Given the description of an element on the screen output the (x, y) to click on. 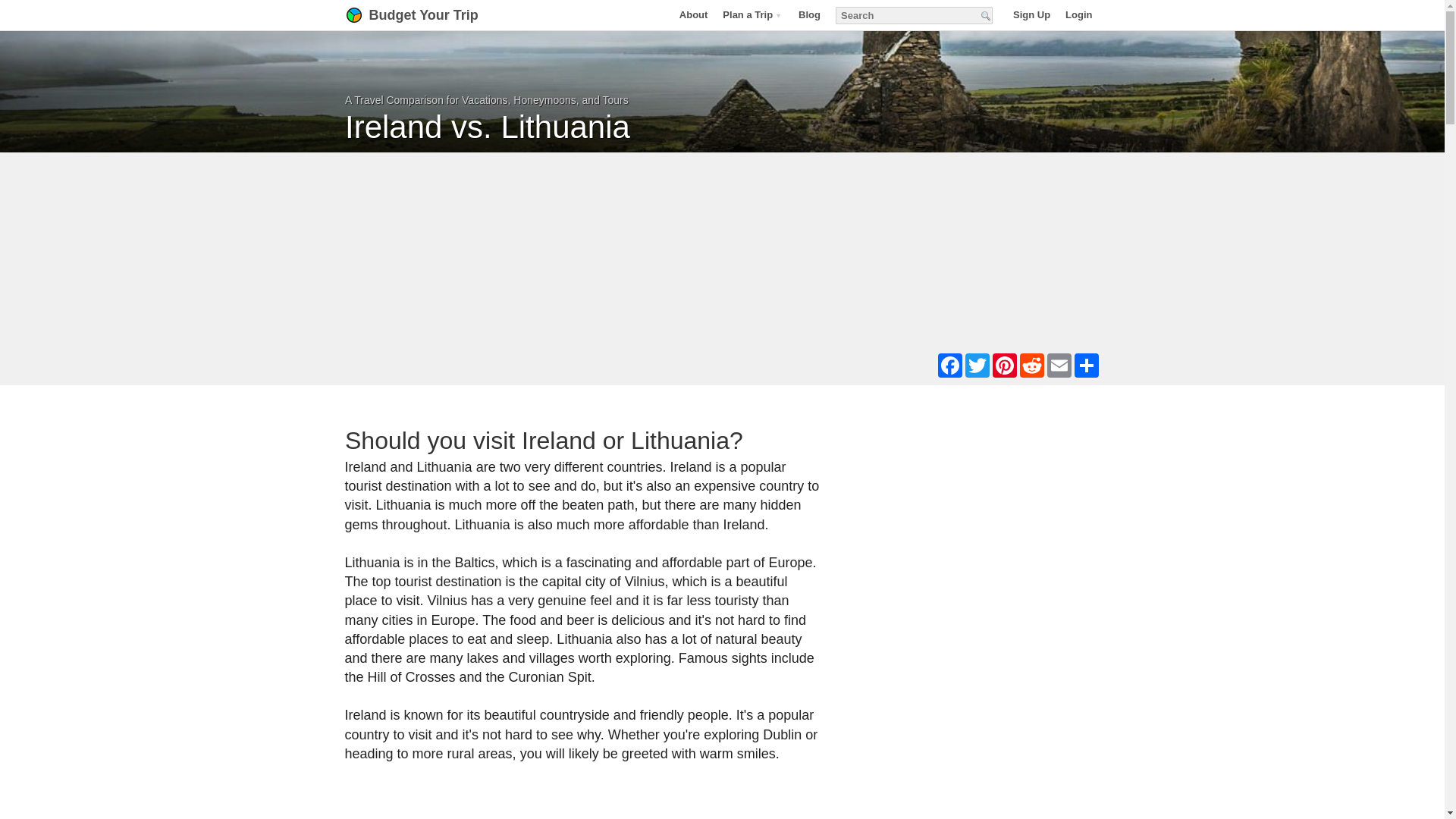
Twitter (976, 364)
Reddit (1031, 364)
Email (1058, 364)
Budget Your Trip (431, 14)
Login (1078, 14)
Pinterest (1003, 364)
About (693, 14)
Share (1085, 364)
Sign Up (1031, 14)
Facebook (949, 364)
Blog (809, 14)
Plan a Trip (752, 14)
